Given the description of an element on the screen output the (x, y) to click on. 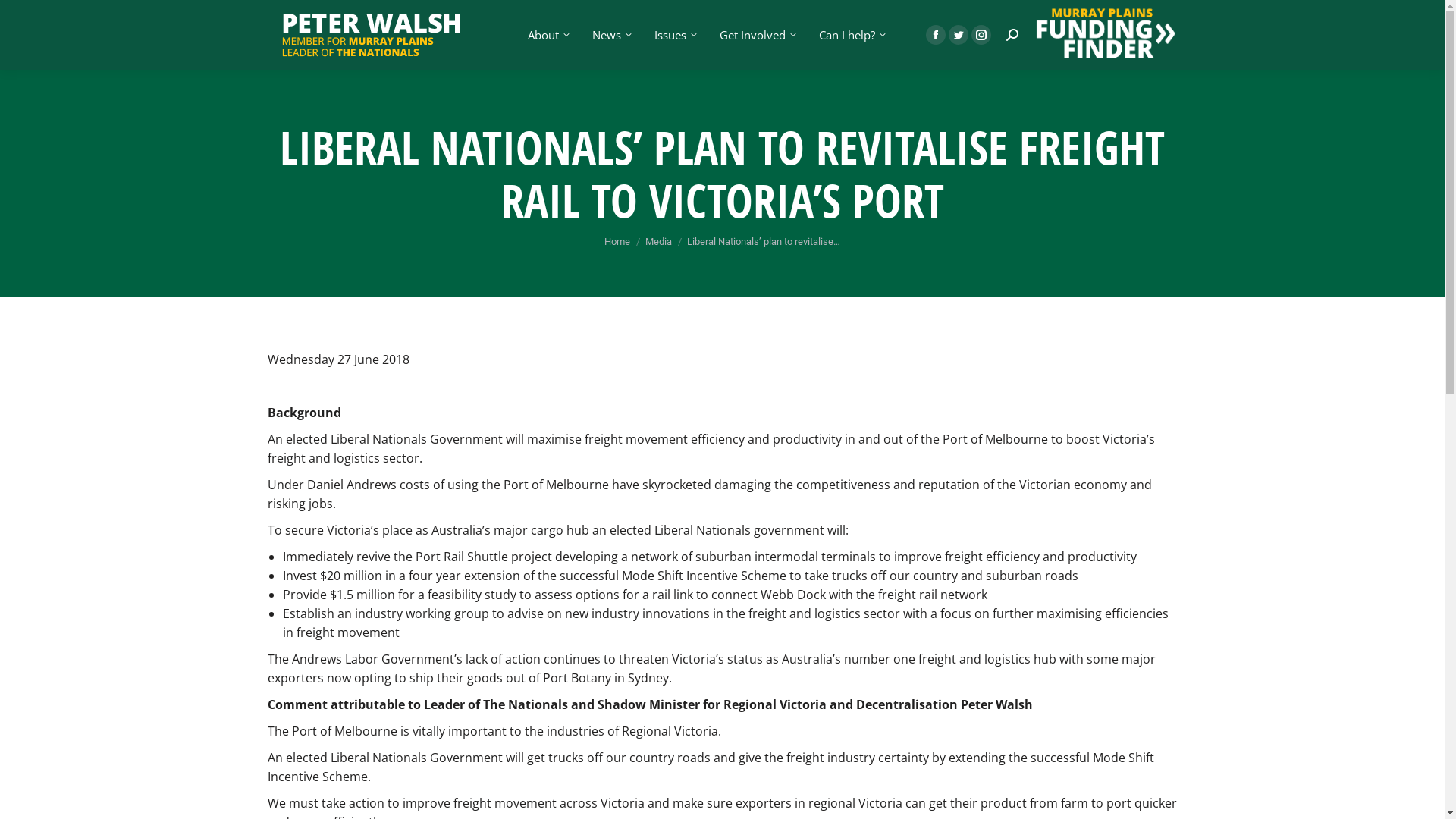
Home Element type: text (617, 241)
News Element type: text (610, 34)
Instagram page opens in new window Element type: text (980, 33)
Twitter page opens in new window Element type: text (957, 33)
Can I help? Element type: text (850, 34)
Media Element type: text (658, 241)
Get Involved Element type: text (756, 34)
Go! Element type: text (23, 16)
About Element type: text (547, 34)
Facebook page opens in new window Element type: text (934, 33)
Issues Element type: text (673, 34)
